Given the description of an element on the screen output the (x, y) to click on. 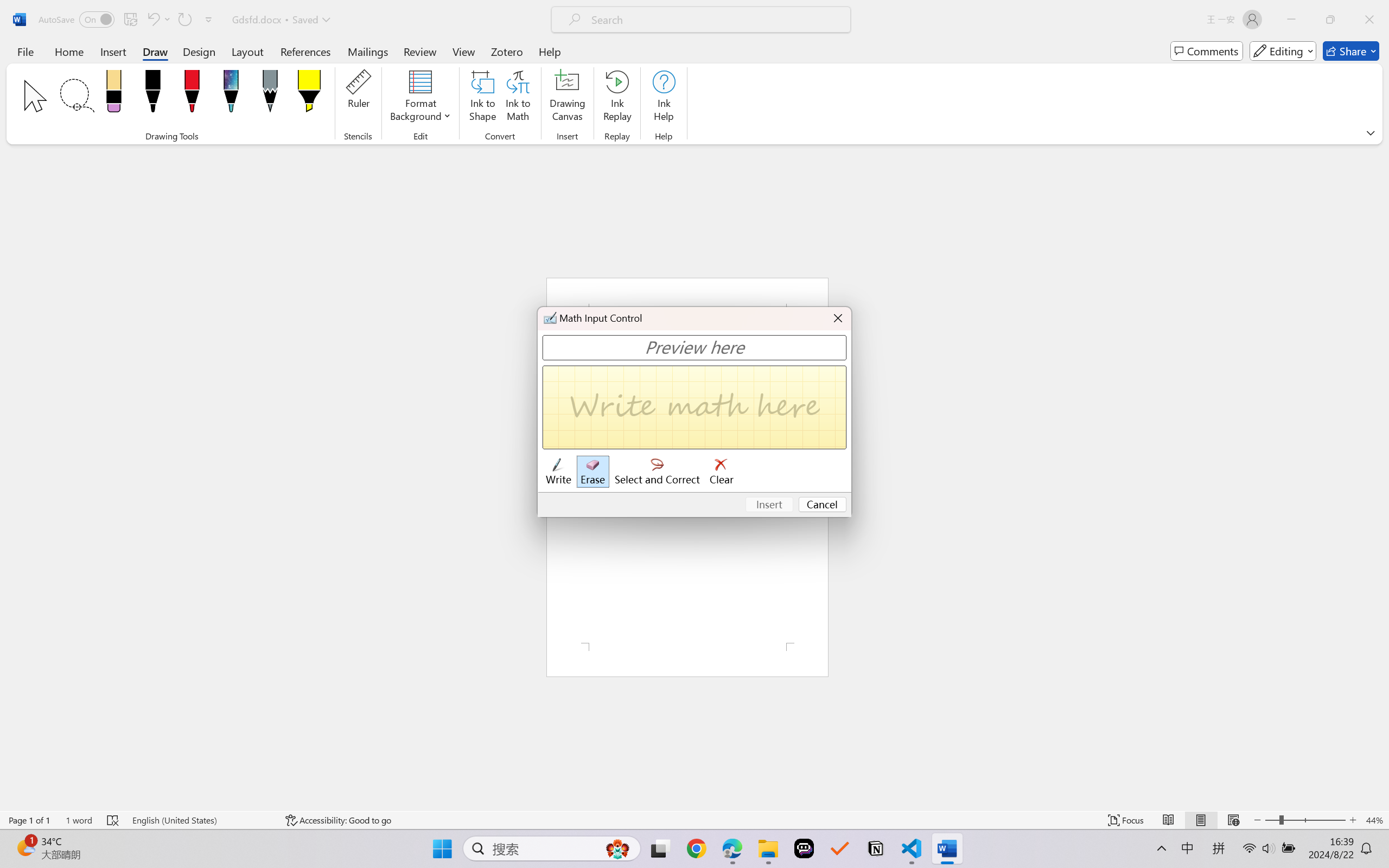
Select and Correct (657, 471)
Erase (592, 471)
Notion (875, 848)
Google Chrome (696, 848)
Cancel (822, 504)
Write (558, 471)
